Given the description of an element on the screen output the (x, y) to click on. 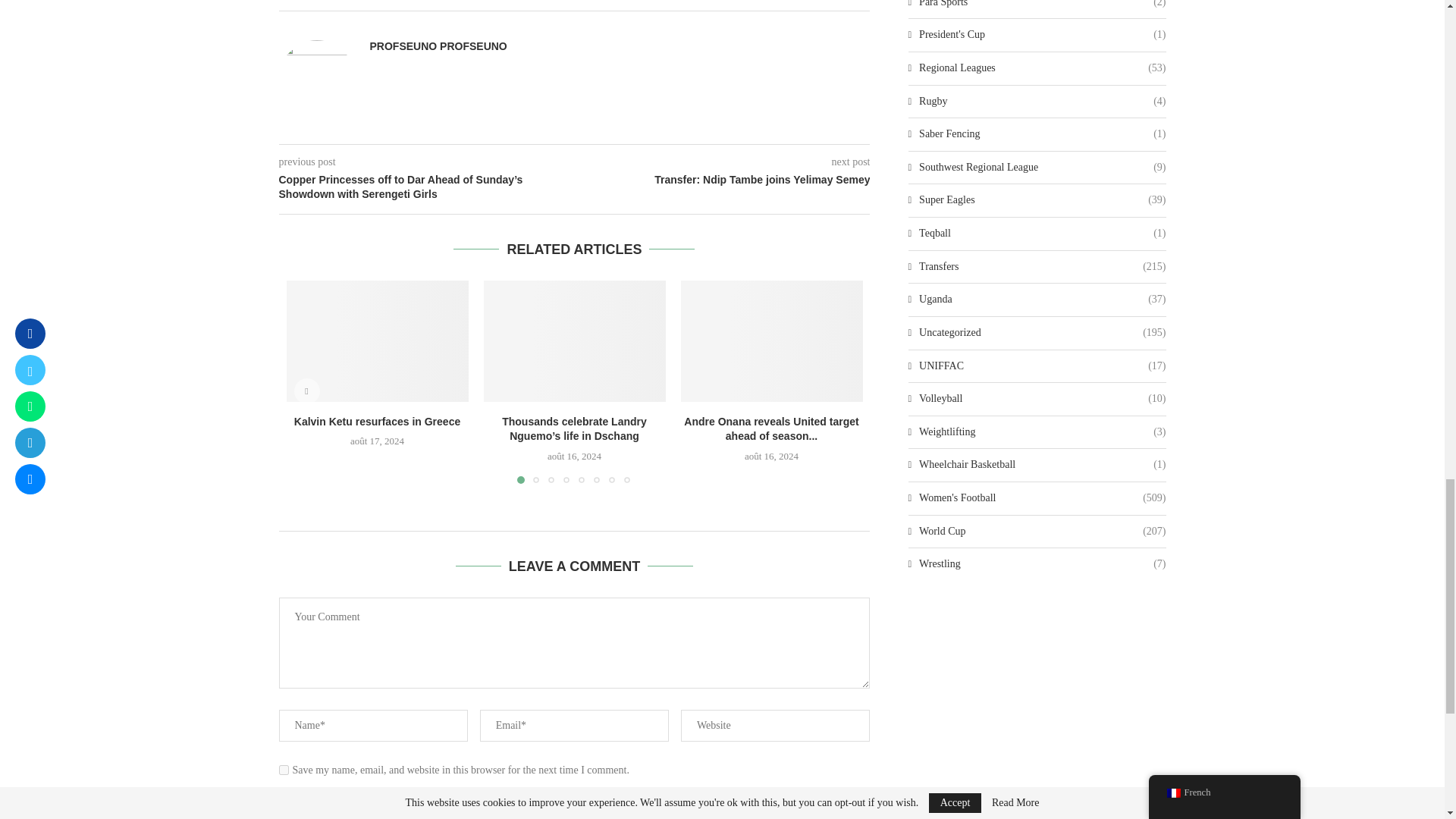
Kalvin Ketu resurfaces in Greece (377, 341)
Submit (574, 803)
Author profseuno profseuno (437, 46)
yes (283, 769)
Andre Onana reveals United target ahead of season opener (772, 341)
